Given the description of an element on the screen output the (x, y) to click on. 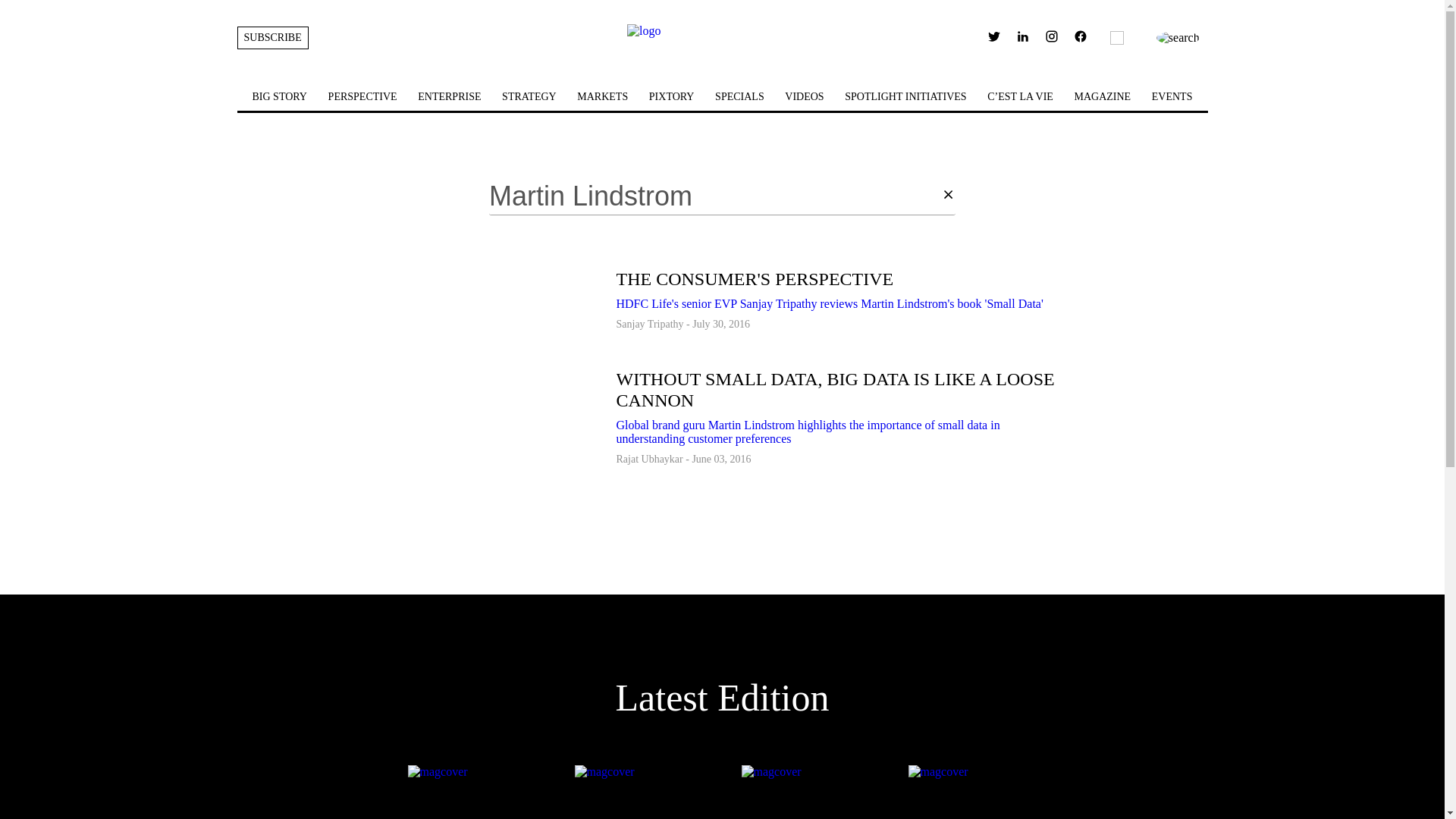
MARKETS (601, 96)
User Profile (1079, 38)
June 28, 2024 (638, 791)
SPECIALS (739, 96)
User Profile (1080, 36)
STRATEGY (529, 96)
Martin Lindstrom (714, 196)
Martin Lindstrom (714, 196)
EVENTS (1171, 96)
SPOTLIGHT INITIATIVES (905, 96)
June 01, 2024 (805, 791)
MAGAZINE (1102, 96)
twitter (994, 36)
ENTERPRISE (448, 96)
